Given the description of an element on the screen output the (x, y) to click on. 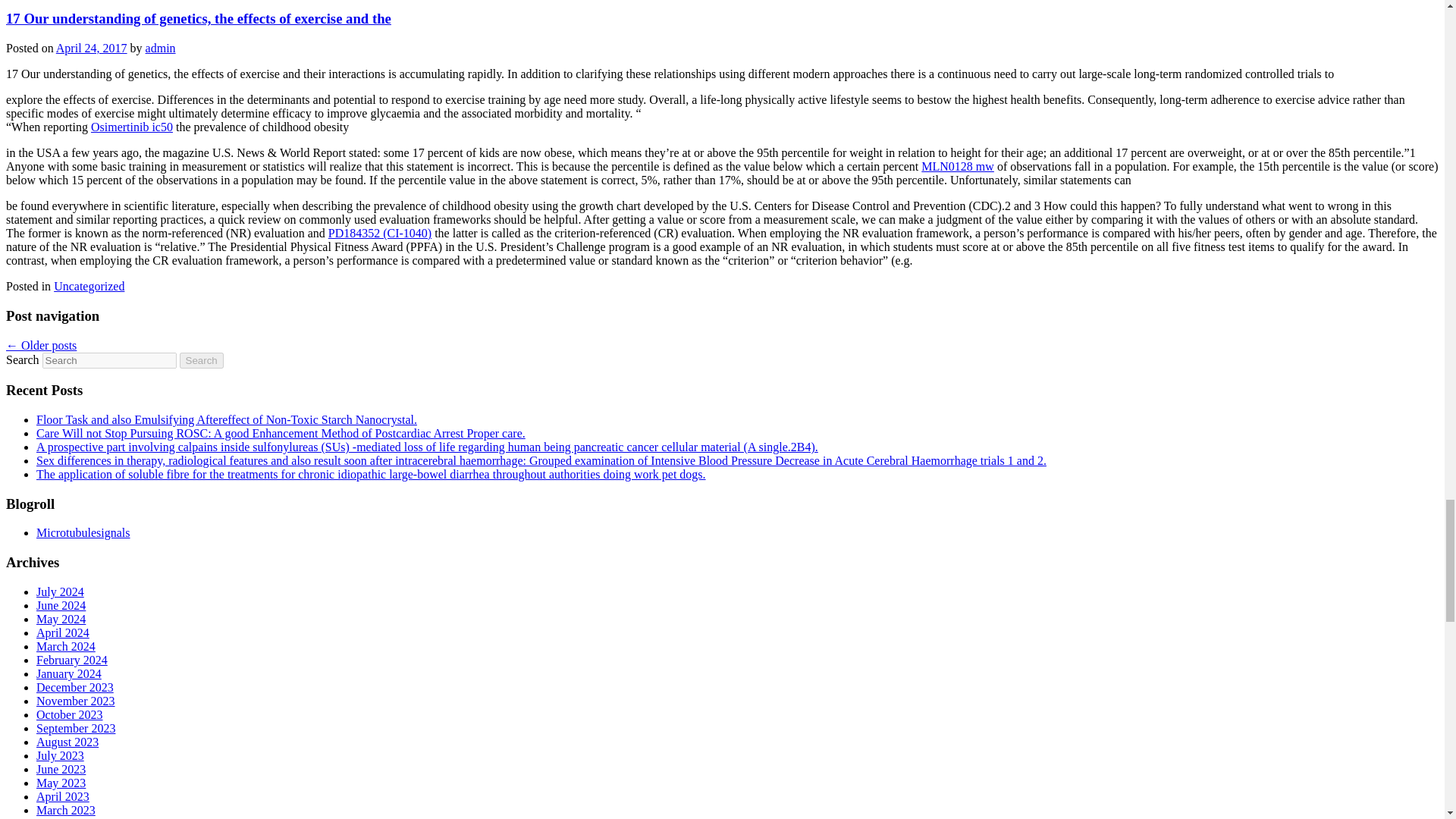
Search (201, 360)
